Given the description of an element on the screen output the (x, y) to click on. 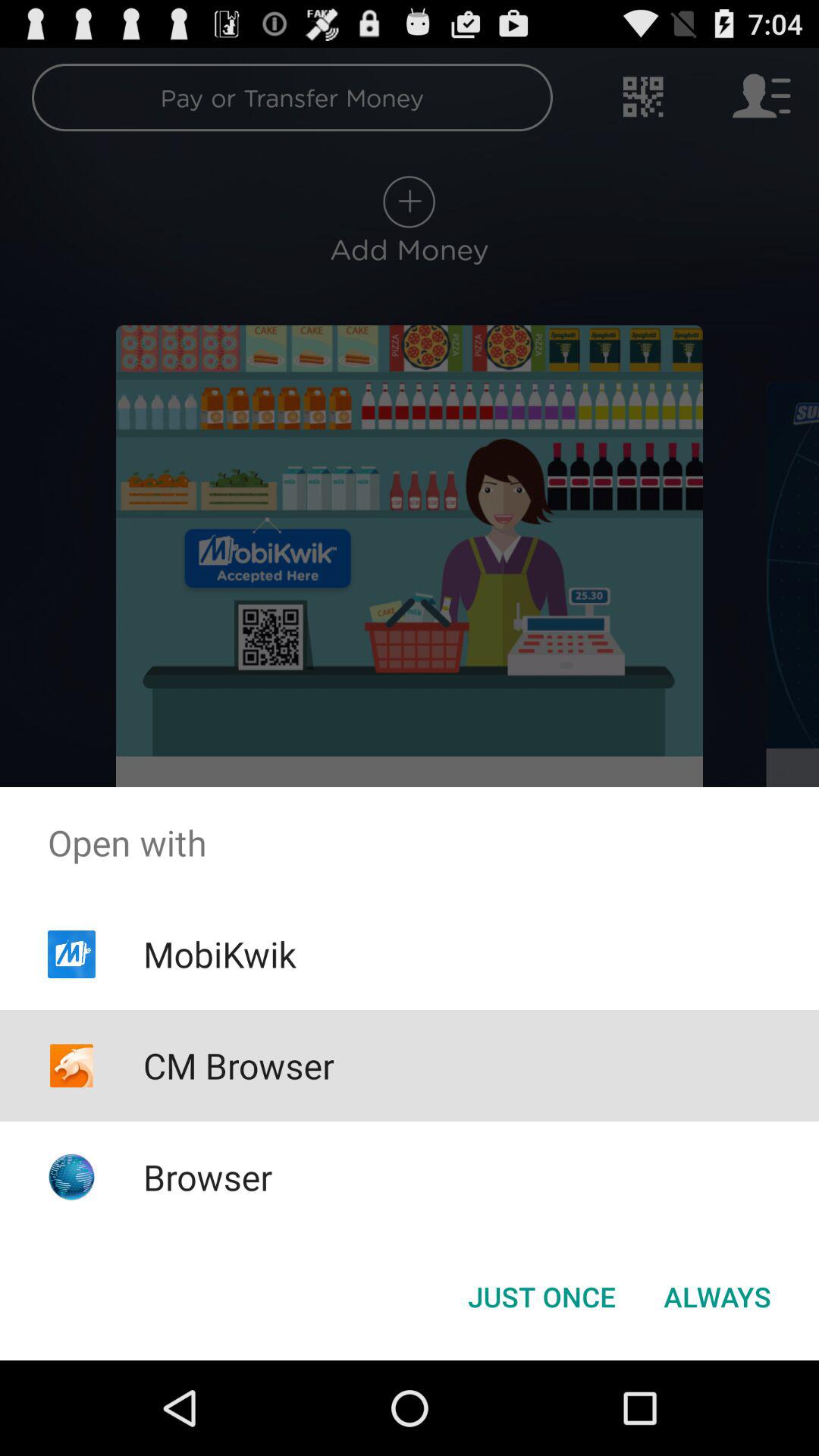
tap the icon below the open with icon (541, 1296)
